Given the description of an element on the screen output the (x, y) to click on. 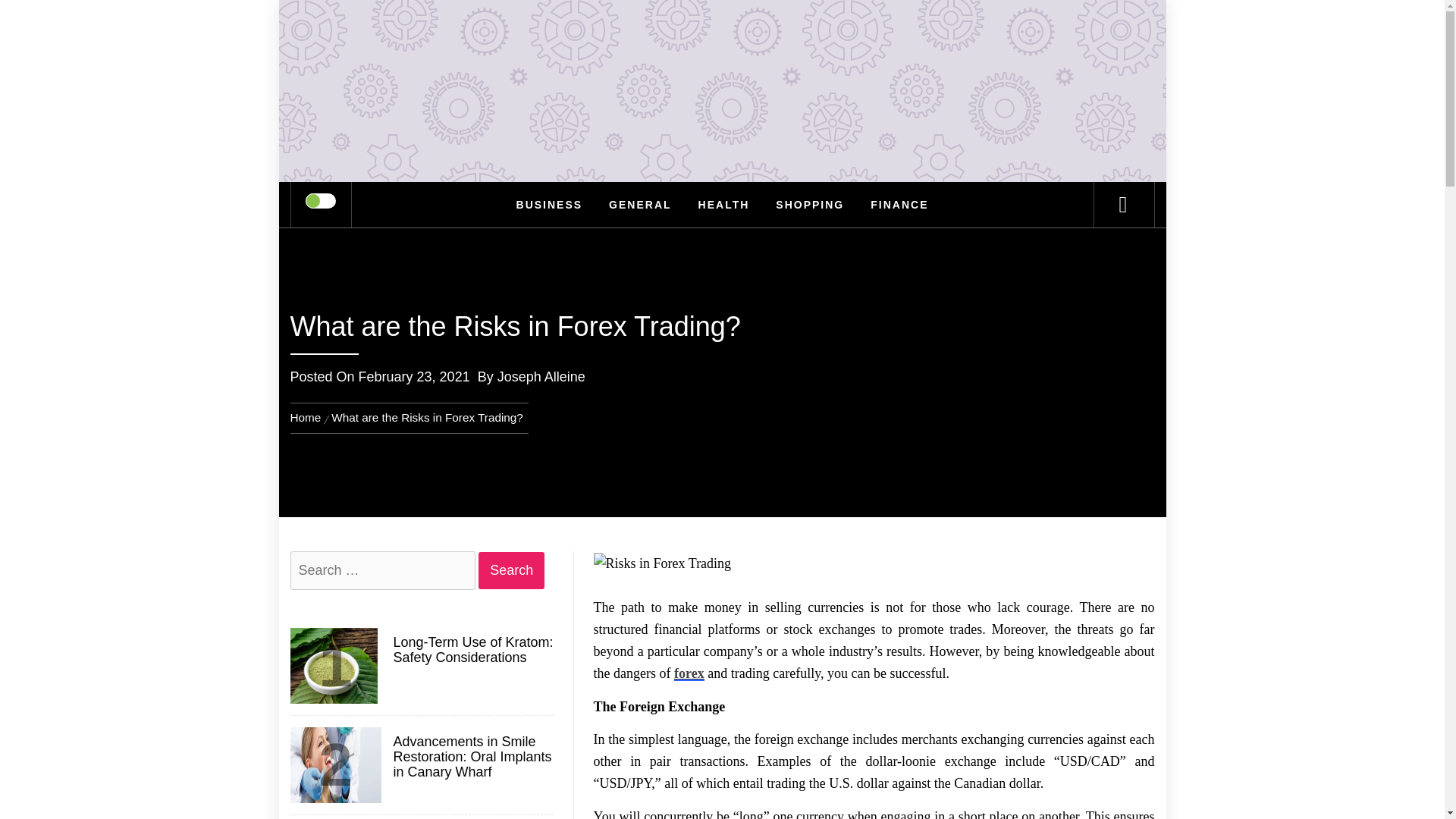
Search (797, 33)
forex (689, 672)
FINANCE (899, 204)
Long-Term Use of Kratom: Safety Considerations (471, 650)
Search (511, 570)
HEALTH (724, 204)
SHOPPING (810, 204)
GENERAL (639, 204)
Home (307, 417)
Search (511, 570)
Search (511, 570)
BUSINESS (549, 204)
February 23, 2021 (414, 376)
Joseph Alleine (541, 376)
